Given the description of an element on the screen output the (x, y) to click on. 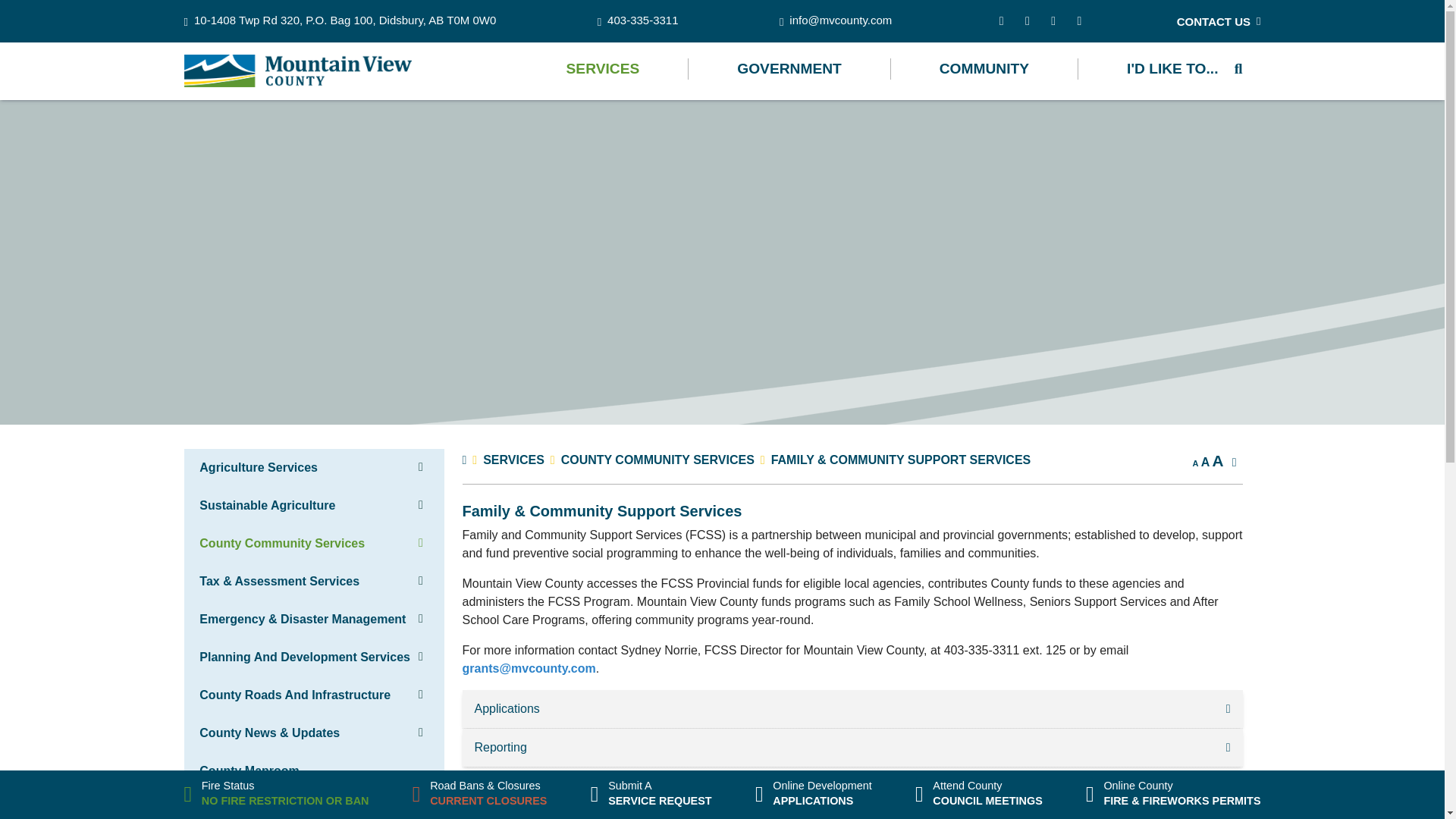
CONTACT US (1218, 21)
SERVICES (603, 68)
403-335-3311 (637, 20)
10-1408 Twp Rd 320, P.O. Bag 100, Didsbury, AB T0M 0W0 (339, 20)
